Given the description of an element on the screen output the (x, y) to click on. 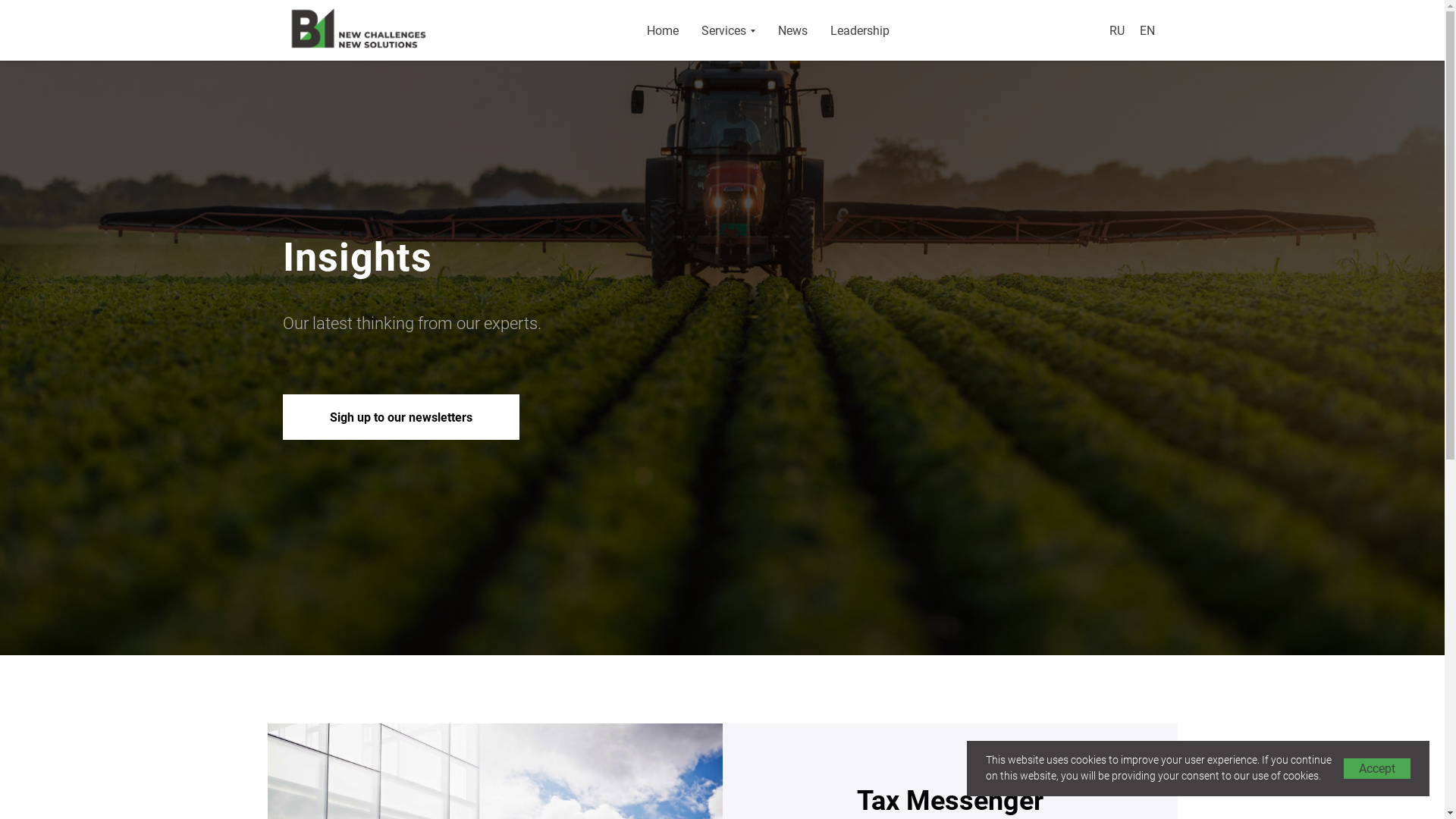
News Element type: text (792, 29)
Services Element type: text (727, 29)
RU Element type: text (1115, 29)
Sigh up to our newsletters Element type: text (400, 416)
EN Element type: text (1146, 29)
Leadership Element type: text (858, 29)
Home Element type: text (661, 29)
